Given the description of an element on the screen output the (x, y) to click on. 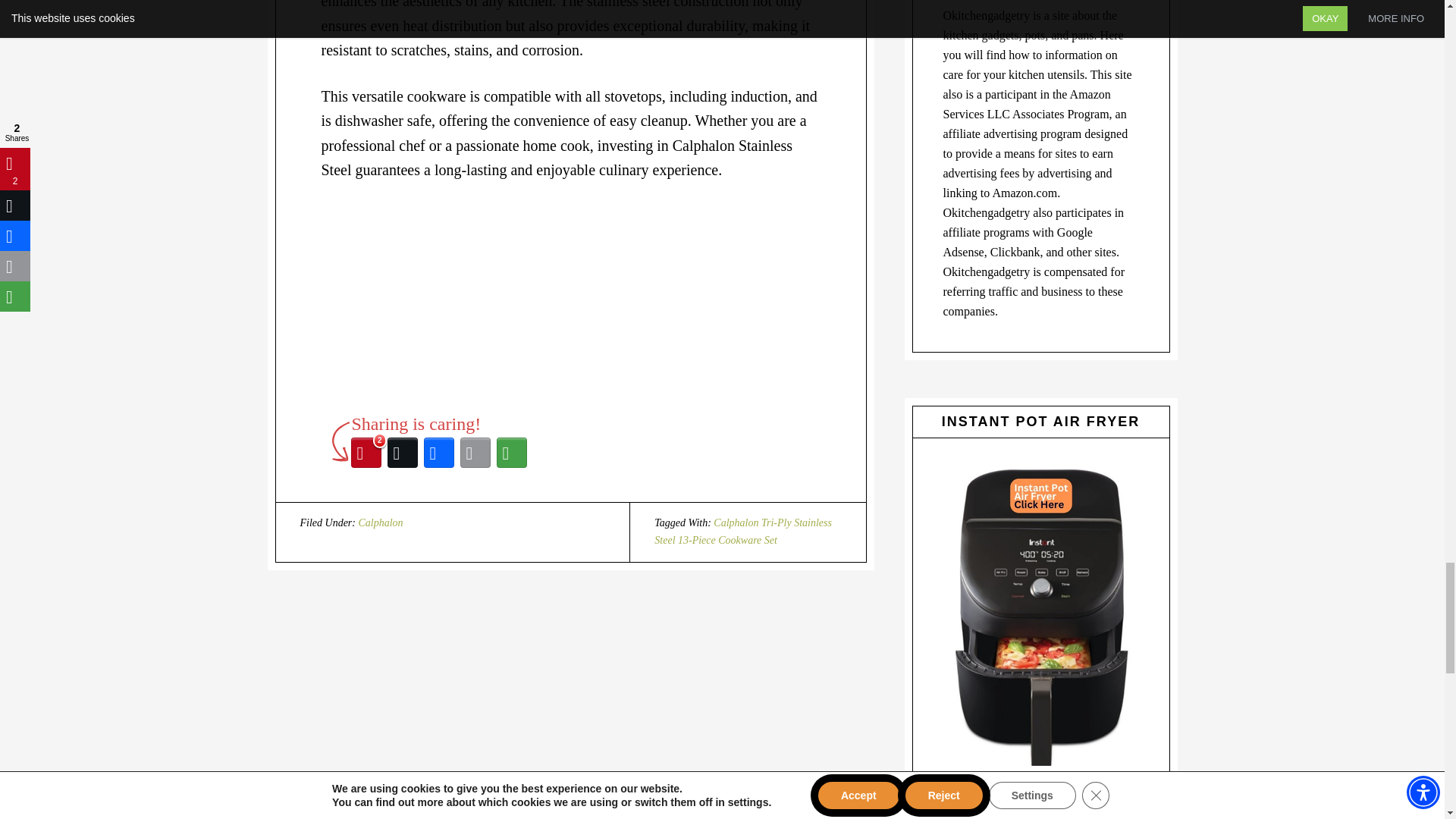
Calphalon (380, 522)
Calphalon Tri-Ply Stainless Steel 13-Piece Cookware Set (742, 531)
Facebook (438, 452)
Email This (475, 452)
More Options (511, 452)
Pinterest (365, 452)
